Given the description of an element on the screen output the (x, y) to click on. 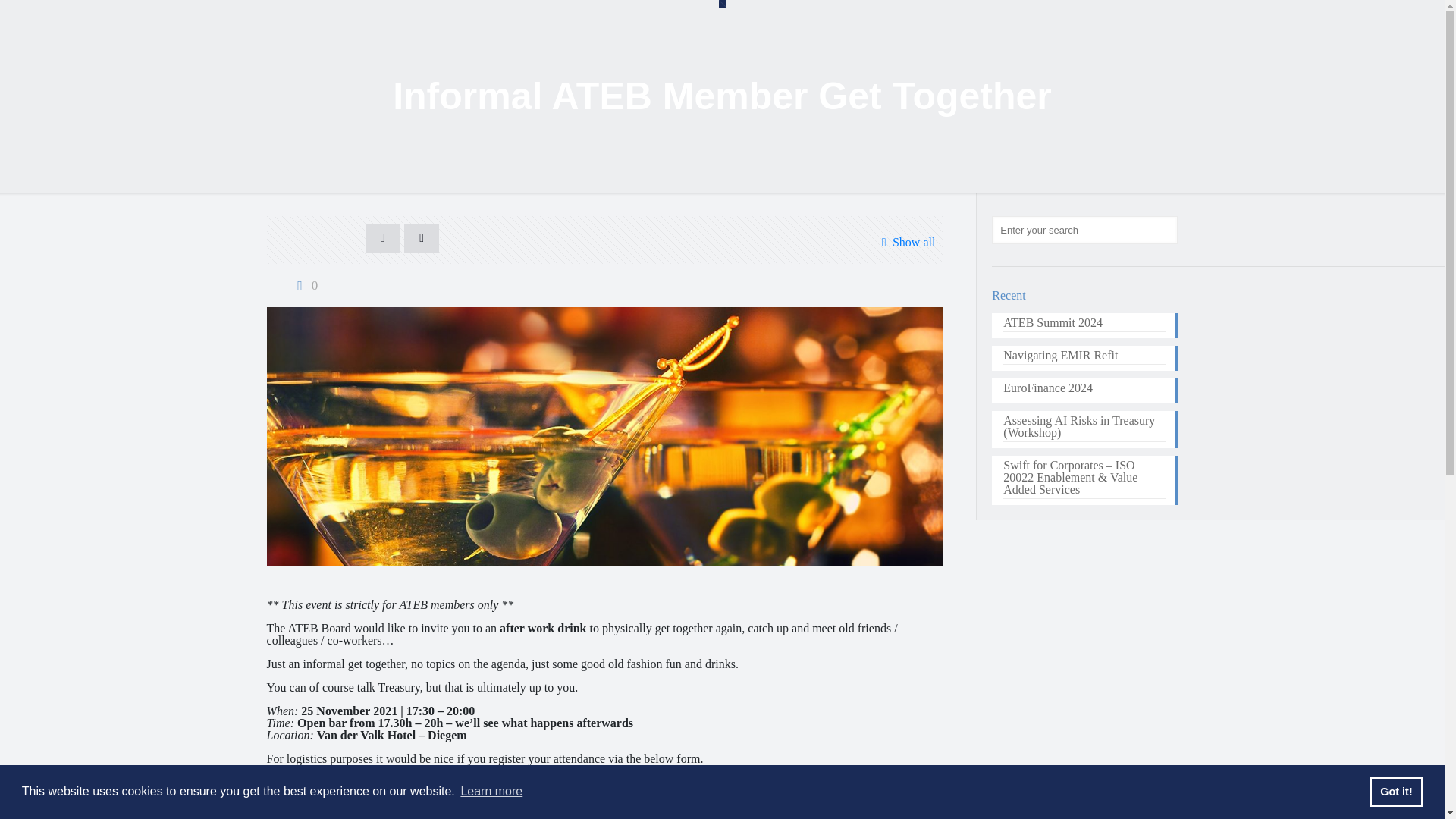
Learn more (491, 791)
Got it! (1396, 791)
0 (303, 285)
Show all (906, 242)
